Given the description of an element on the screen output the (x, y) to click on. 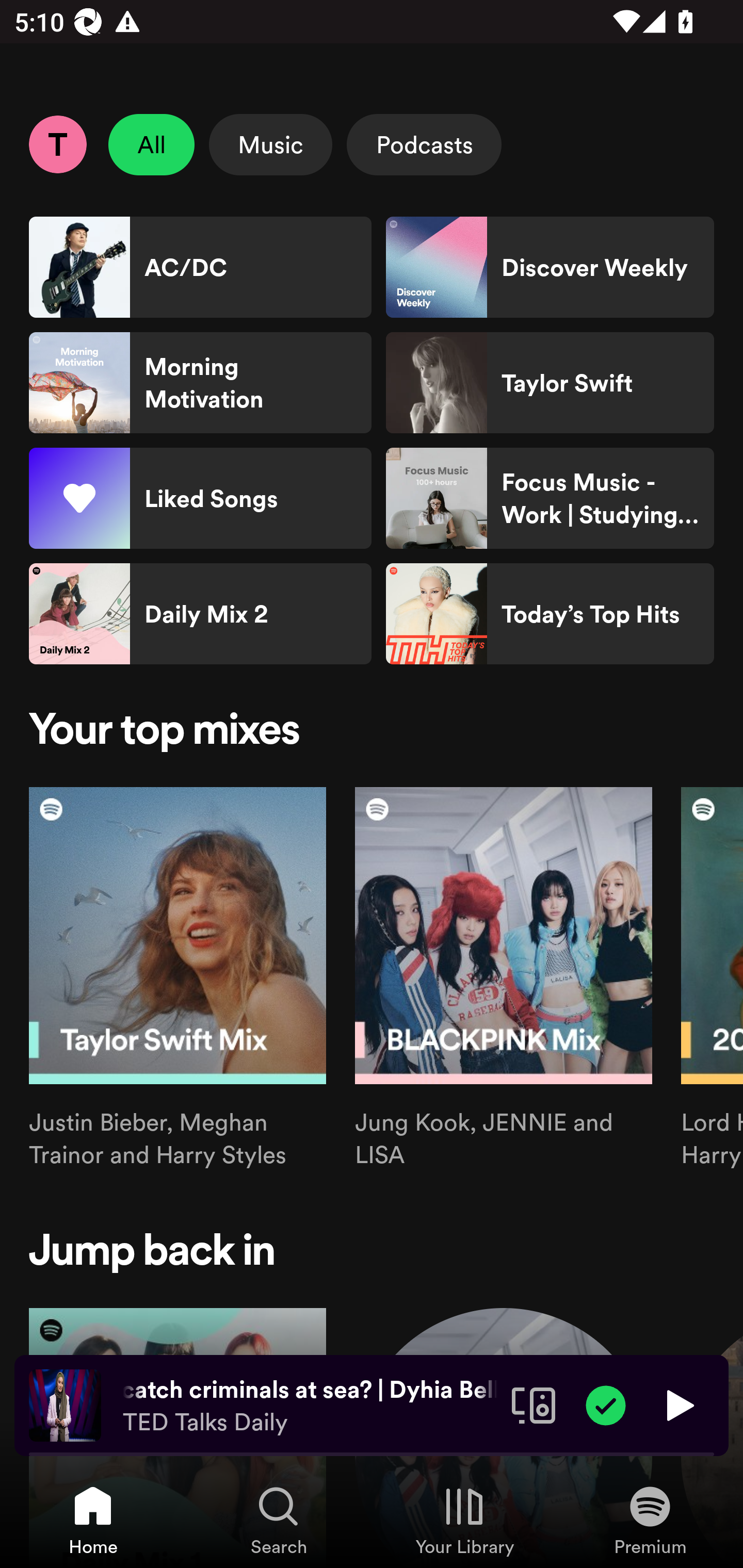
Profile (57, 144)
All Unselect All (151, 144)
Music Select Music (270, 144)
Podcasts Select Podcasts (423, 144)
AC/DC Shortcut AC/DC (199, 267)
Discover Weekly Shortcut Discover Weekly (549, 267)
Morning Motivation Shortcut Morning Motivation (199, 382)
Taylor Swift Shortcut Taylor Swift (549, 382)
Liked Songs Shortcut Liked Songs (199, 498)
Daily Mix 2 Shortcut Daily Mix 2 (199, 613)
Today’s Top Hits Shortcut Today’s Top Hits (549, 613)
The cover art of the currently playing track (64, 1404)
Connect to a device. Opens the devices menu (533, 1404)
Item added (605, 1404)
Play (677, 1404)
Home, Tab 1 of 4 Home Home (92, 1519)
Search, Tab 2 of 4 Search Search (278, 1519)
Your Library, Tab 3 of 4 Your Library Your Library (464, 1519)
Premium, Tab 4 of 4 Premium Premium (650, 1519)
